Given the description of an element on the screen output the (x, y) to click on. 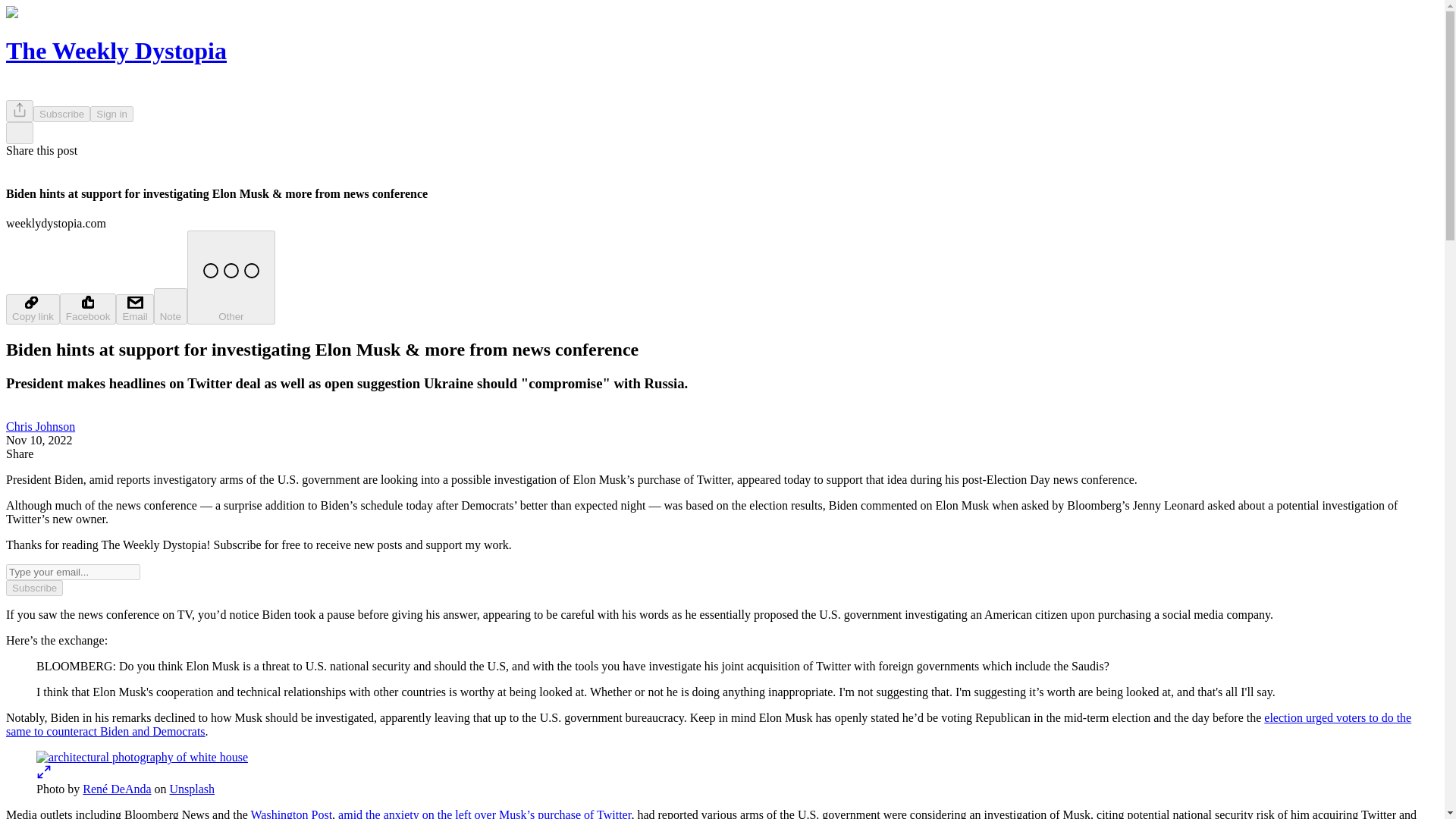
The Weekly Dystopia (116, 50)
Unsplash (192, 788)
Chris Johnson (40, 426)
Copy link (32, 309)
architectural photography of white house (141, 757)
Subscribe (33, 587)
Washington Post (290, 813)
Facebook (87, 308)
Other (231, 277)
Email (134, 309)
Subscribe (61, 114)
Sign in (111, 114)
Note (170, 306)
